Given the description of an element on the screen output the (x, y) to click on. 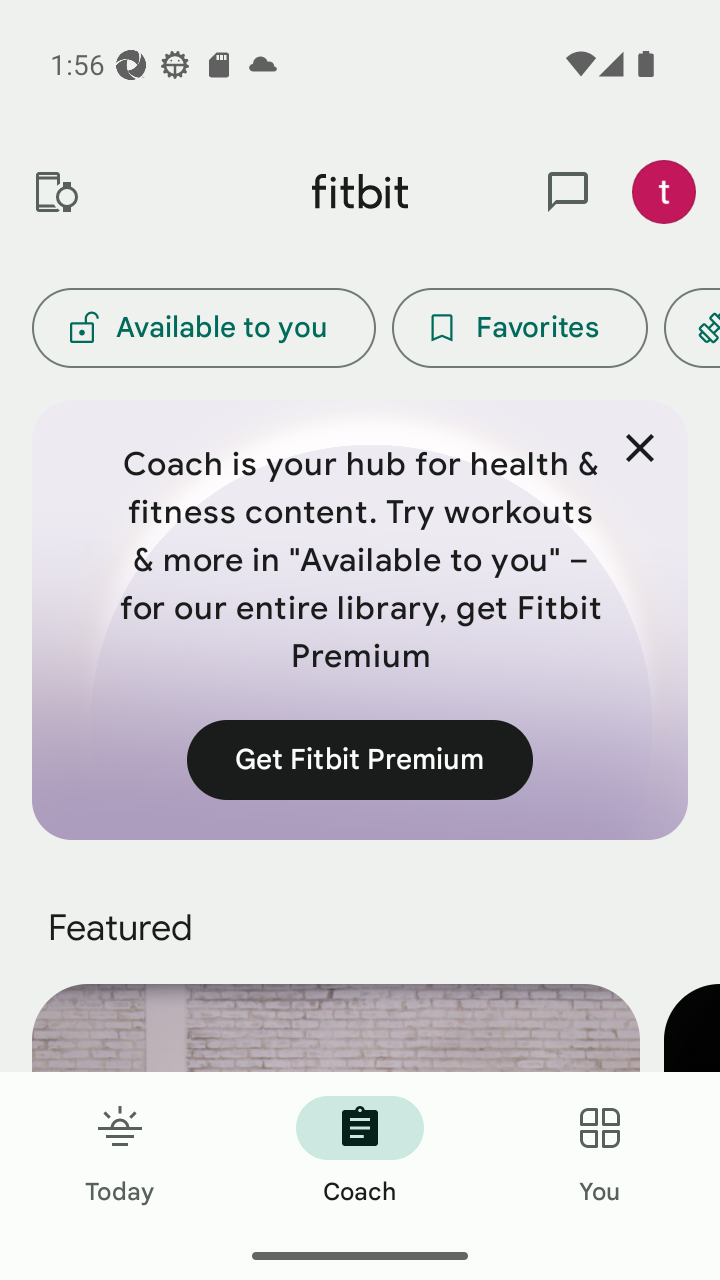
Devices and apps (55, 191)
messages and notifications (567, 191)
Available to you (203, 328)
Favorites (519, 328)
Close promotional content (639, 447)
Get Fitbit Premium (359, 759)
Today (119, 1151)
You (600, 1151)
